Given the description of an element on the screen output the (x, y) to click on. 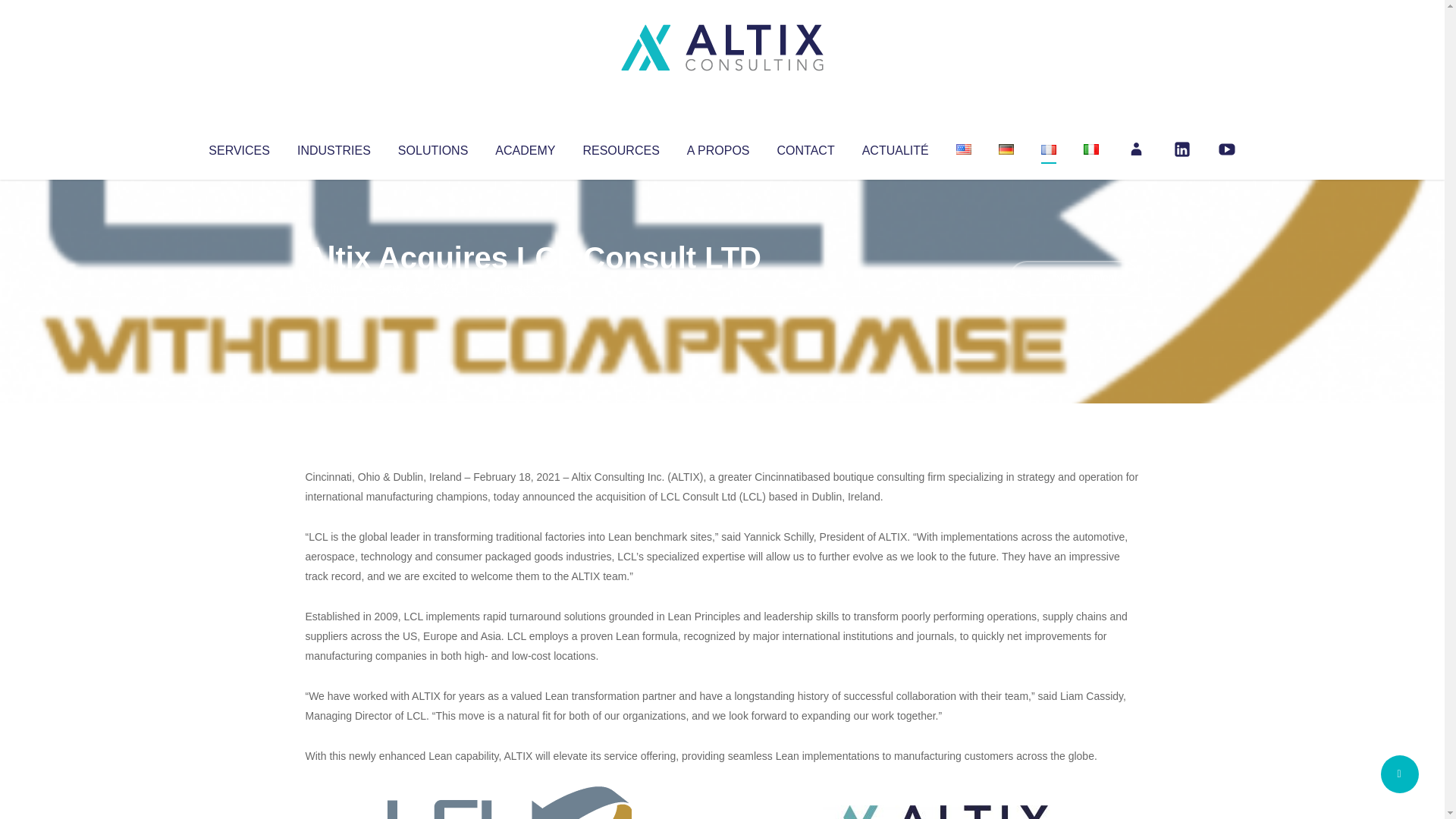
No Comments (1073, 278)
Uncategorized (530, 287)
INDUSTRIES (334, 146)
RESOURCES (620, 146)
Articles par Altix (333, 287)
SERVICES (238, 146)
ACADEMY (524, 146)
SOLUTIONS (432, 146)
Altix (333, 287)
A PROPOS (718, 146)
